Given the description of an element on the screen output the (x, y) to click on. 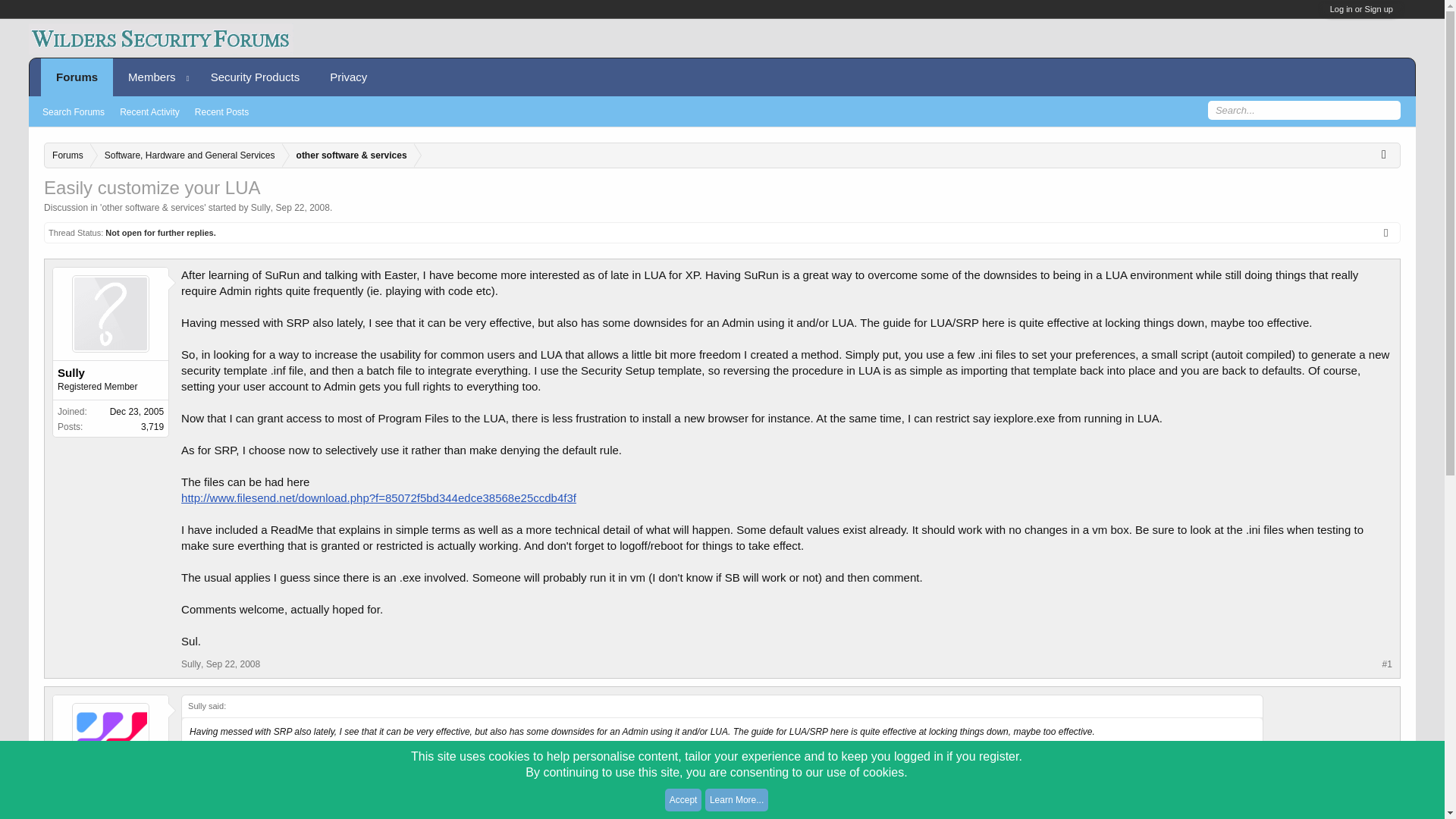
Log in or Sign up (1361, 8)
Sully (260, 207)
Sep 22, 2008 (302, 207)
Software, Hardware and General Services (186, 155)
Search Forums (73, 111)
Sep 22, 2008 at 4:32 PM (302, 207)
EASTER (110, 800)
Forums (67, 155)
Open quick navigation (1387, 153)
Recent Activity (149, 111)
